Given the description of an element on the screen output the (x, y) to click on. 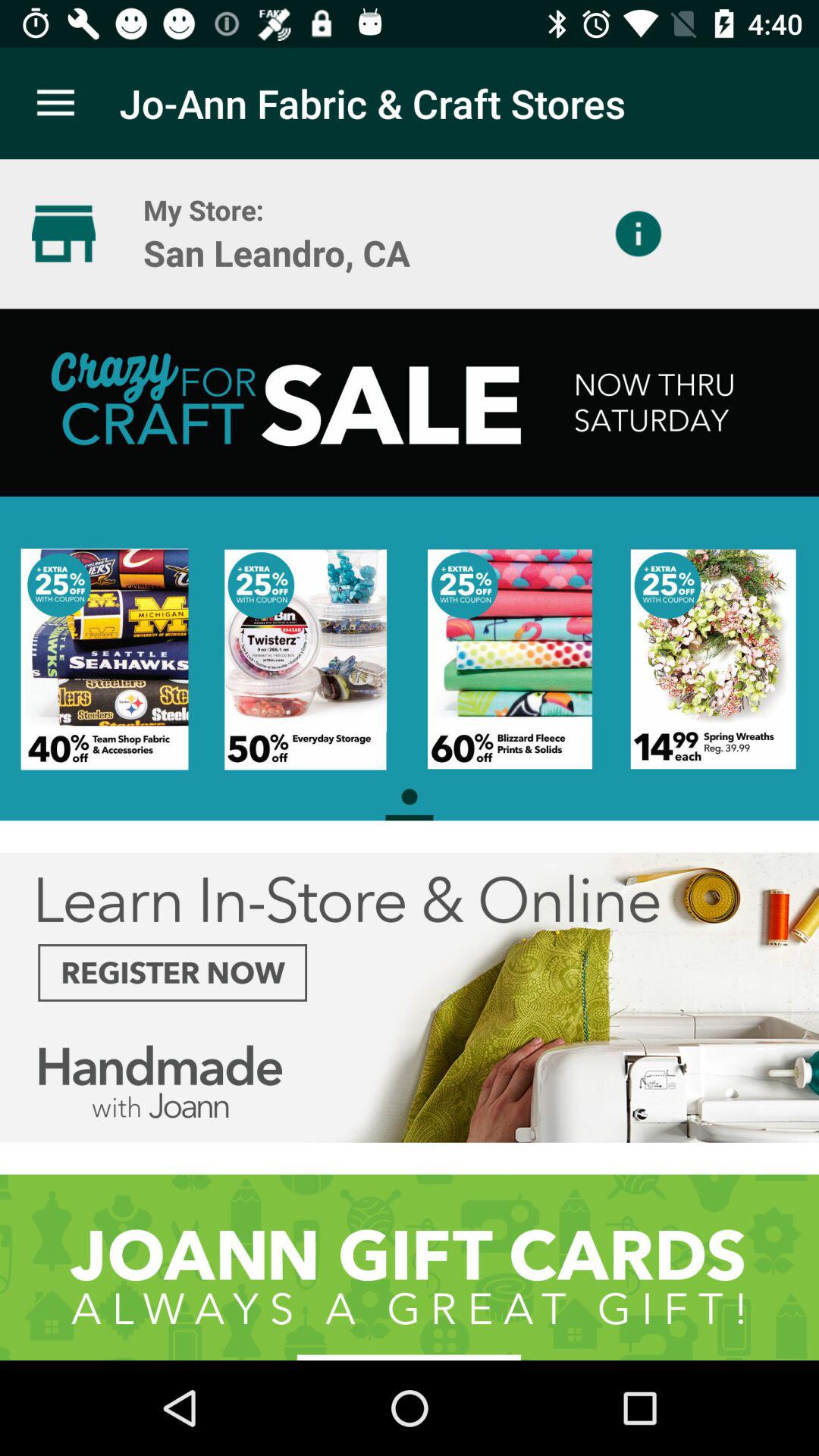
tap icon below the san leandro, ca (409, 564)
